Given the description of an element on the screen output the (x, y) to click on. 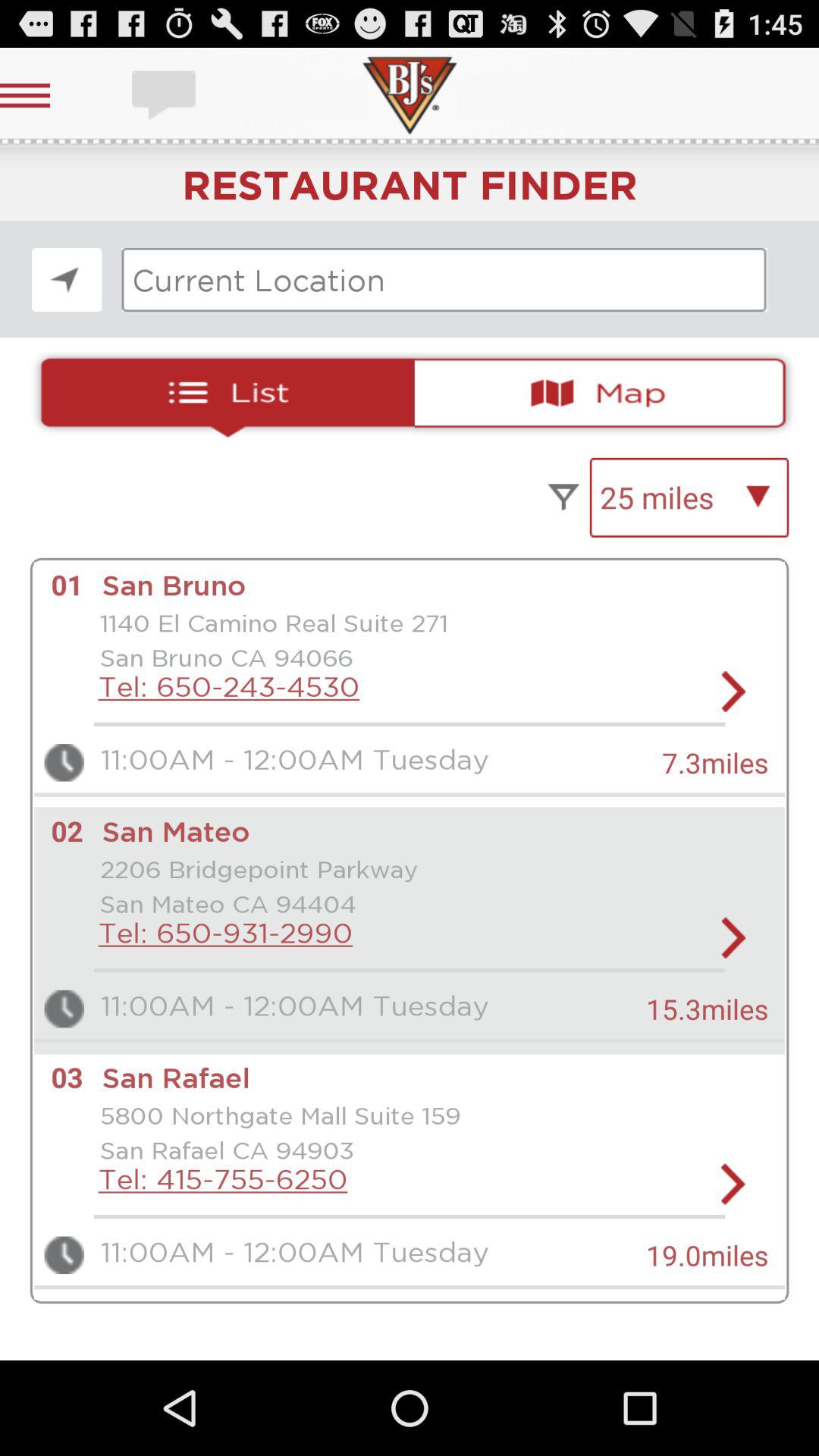
open list (222, 392)
